Given the description of an element on the screen output the (x, y) to click on. 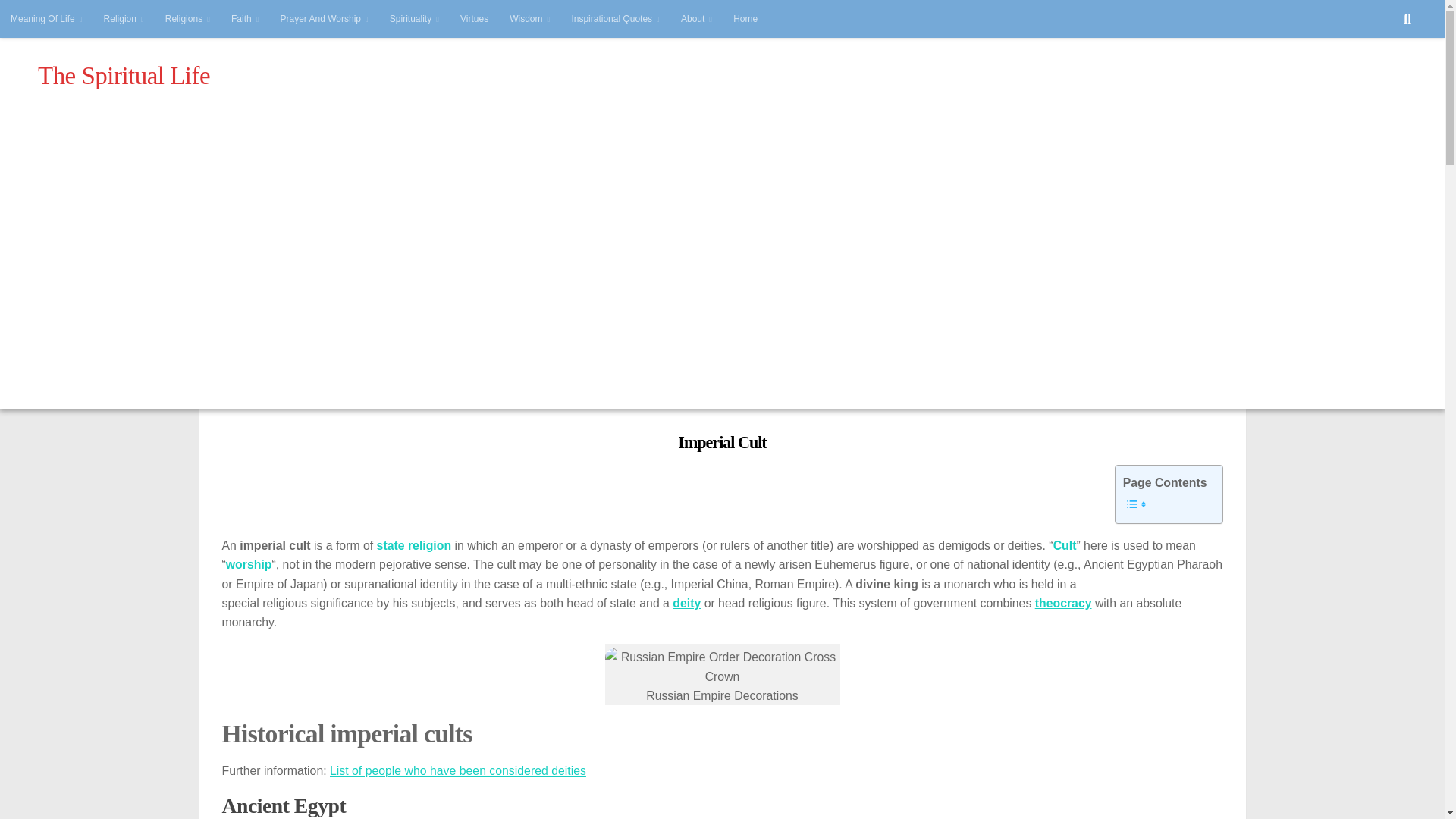
Skip to content (58, 19)
